Given the description of an element on the screen output the (x, y) to click on. 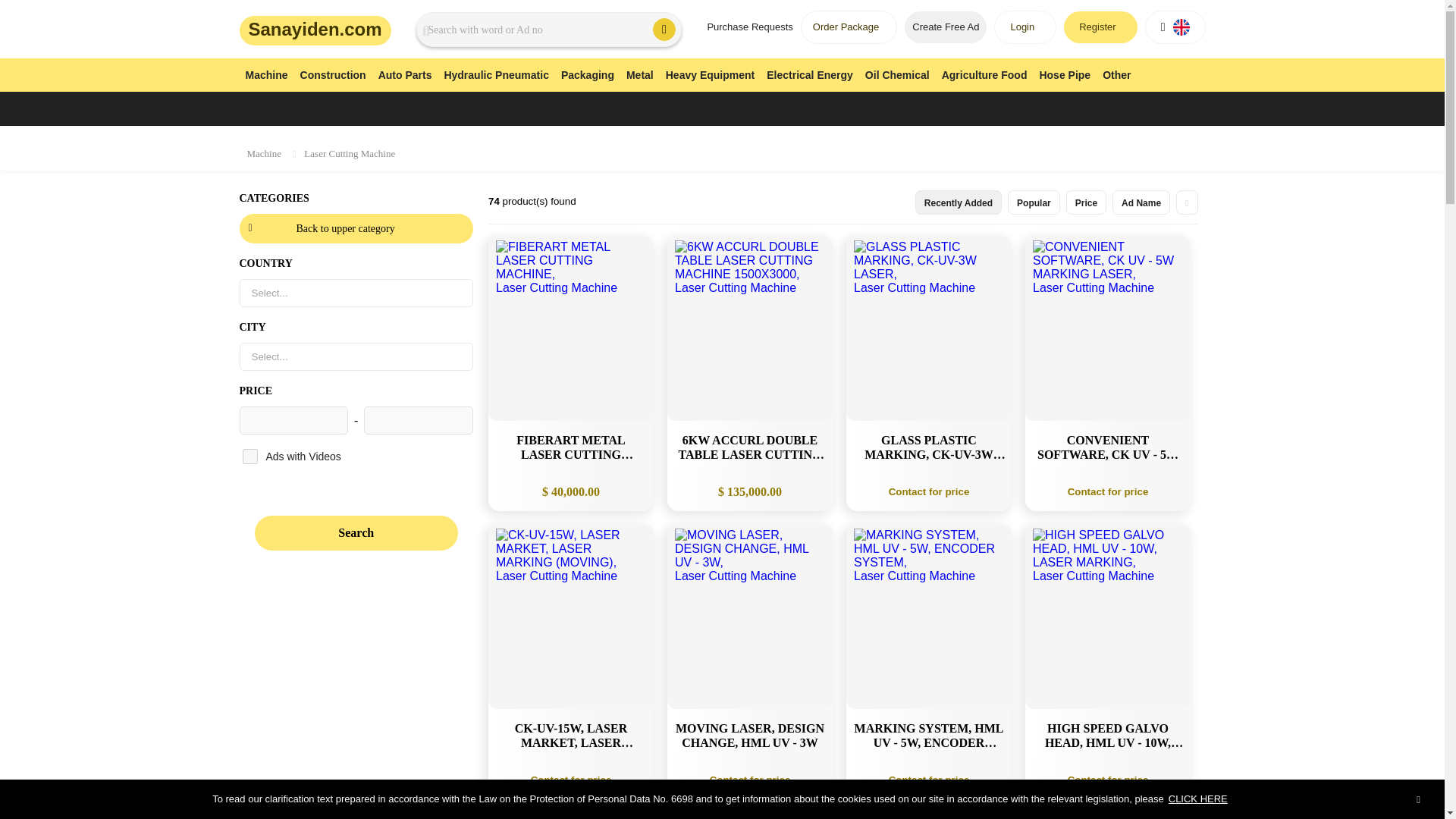
Order Package (848, 26)
Detailed Search (663, 29)
on (250, 456)
Create Free Ad (945, 26)
Register (1099, 26)
Machine (267, 73)
Purchase Requests (749, 26)
en (1180, 27)
